Given the description of an element on the screen output the (x, y) to click on. 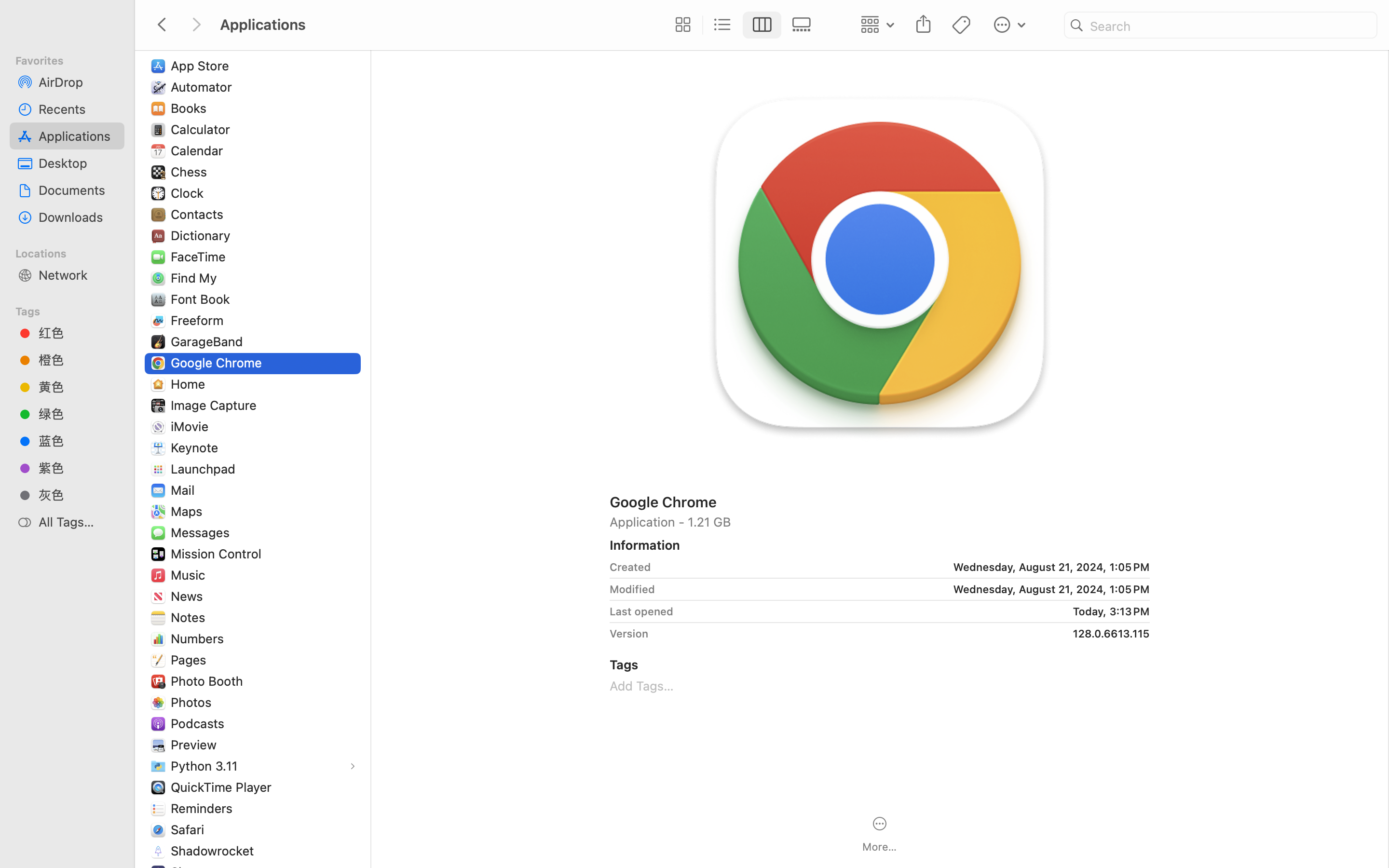
Contacts Element type: AXTextField (198, 213)
Music Element type: AXTextField (189, 574)
Mail Element type: AXTextField (184, 489)
Chess Element type: AXTextField (190, 171)
Favorites Element type: AXStaticText (72, 59)
